Given the description of an element on the screen output the (x, y) to click on. 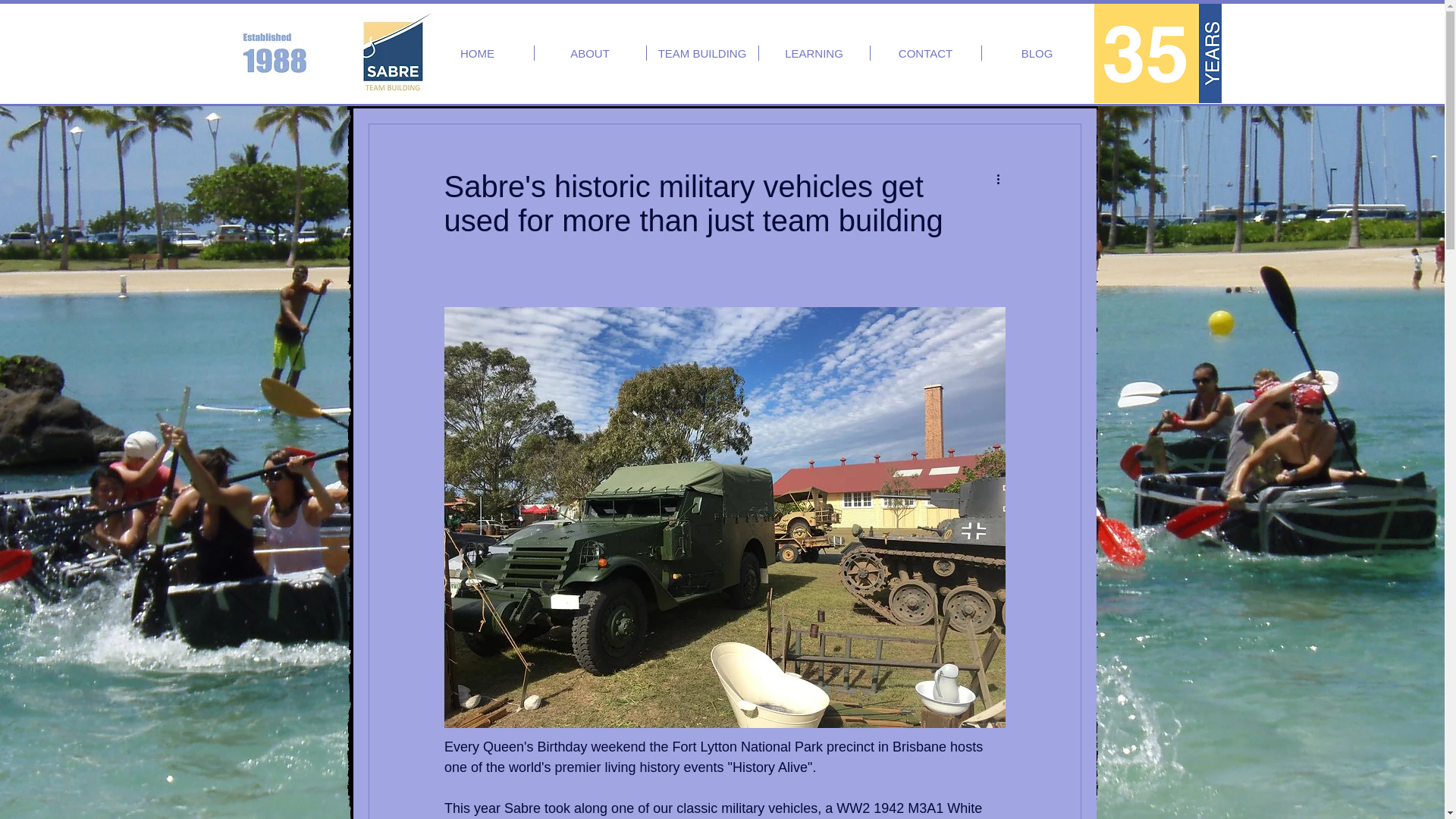
LEARNING (813, 52)
CONTACT (925, 52)
Team Building Australia since 1988 (1157, 53)
Team Building by Sabre Corporate Developmen (391, 52)
BLOG (1036, 52)
HOME (478, 52)
ABOUT (589, 52)
TEAM BUILDING (701, 52)
